Given the description of an element on the screen output the (x, y) to click on. 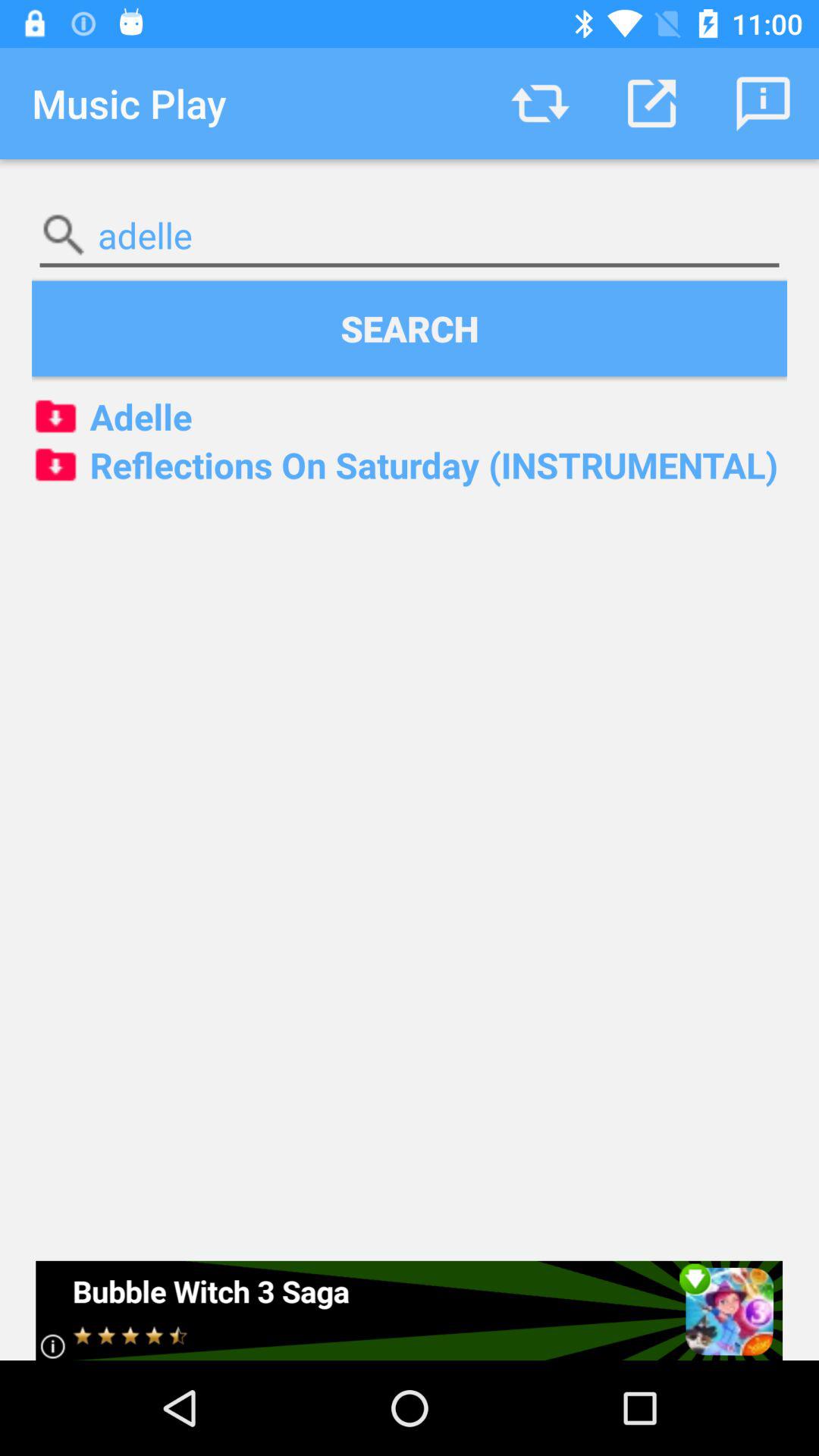
jump to search (409, 328)
